Given the description of an element on the screen output the (x, y) to click on. 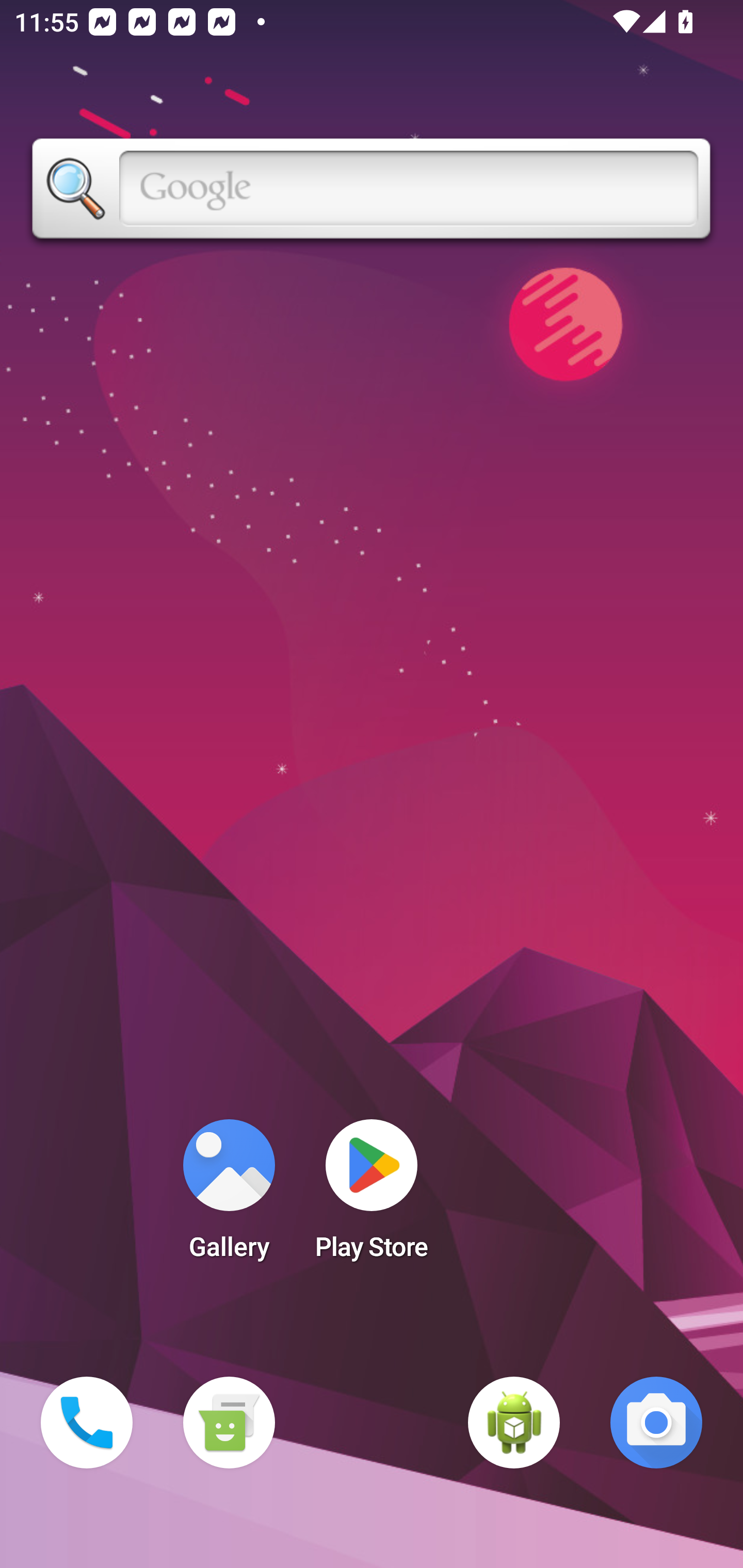
Gallery (228, 1195)
Play Store (371, 1195)
Phone (86, 1422)
Messaging (228, 1422)
WebView Browser Tester (513, 1422)
Camera (656, 1422)
